Given the description of an element on the screen output the (x, y) to click on. 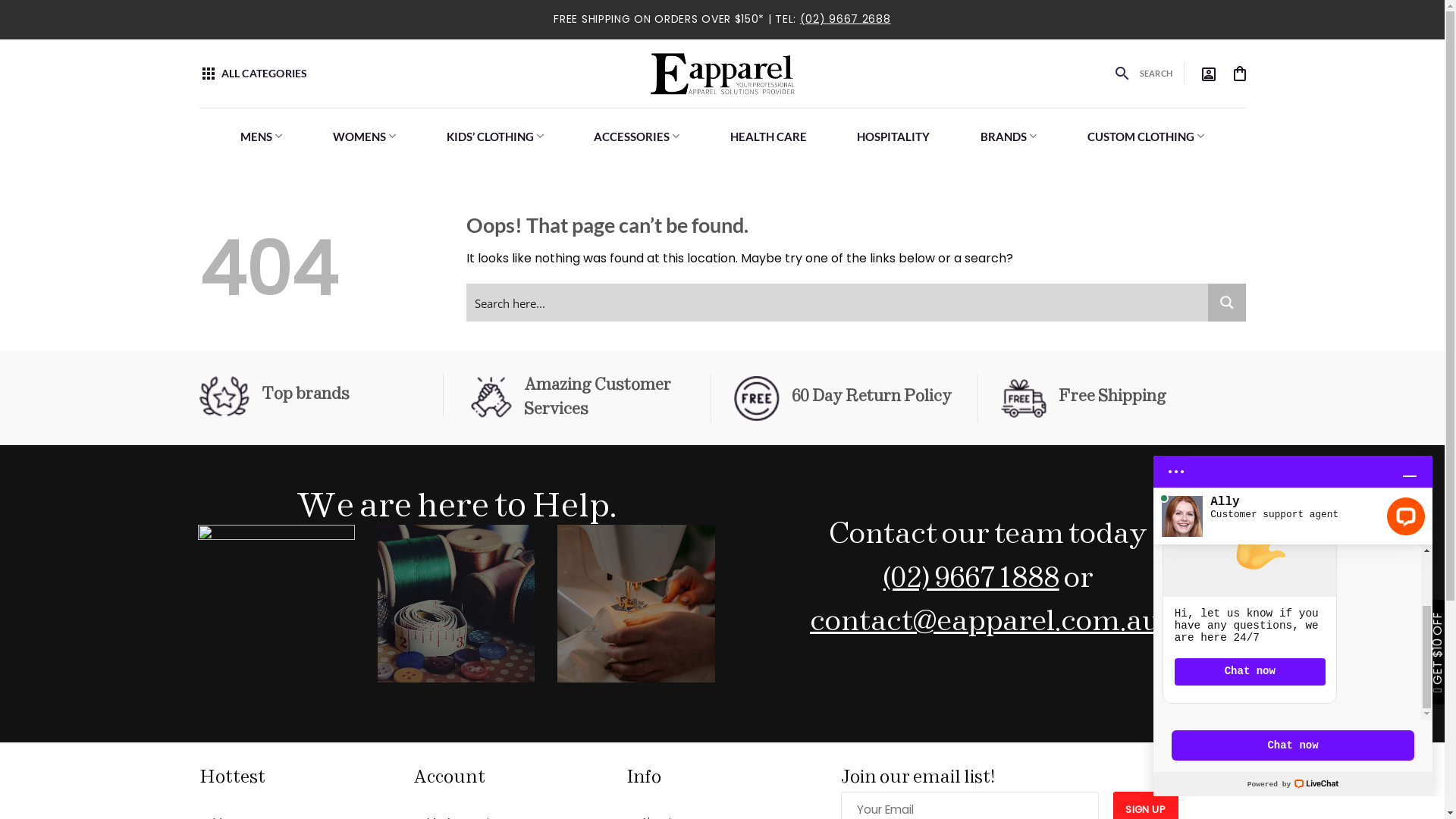
Cart Element type: hover (1239, 73)
SEARCH Element type: text (1155, 73)
ACCESSORIES Element type: text (636, 135)
(02) 9667 1888 Element type: text (971, 578)
(02) 9667 2688 Element type: text (845, 18)
Eapparel Element type: hover (721, 73)
ALL CATEGORIES Element type: text (252, 73)
contact@eapparel.com.au Element type: text (984, 622)
CUSTOM CLOTHING Element type: text (1145, 135)
LiveChat chat widget Element type: hover (1292, 619)
BRANDS Element type: text (1008, 135)
WOMENS Element type: text (364, 135)
HOSPITALITY Element type: text (893, 136)
HEALTH CARE Element type: text (768, 136)
MENS Element type: text (261, 135)
